Given the description of an element on the screen output the (x, y) to click on. 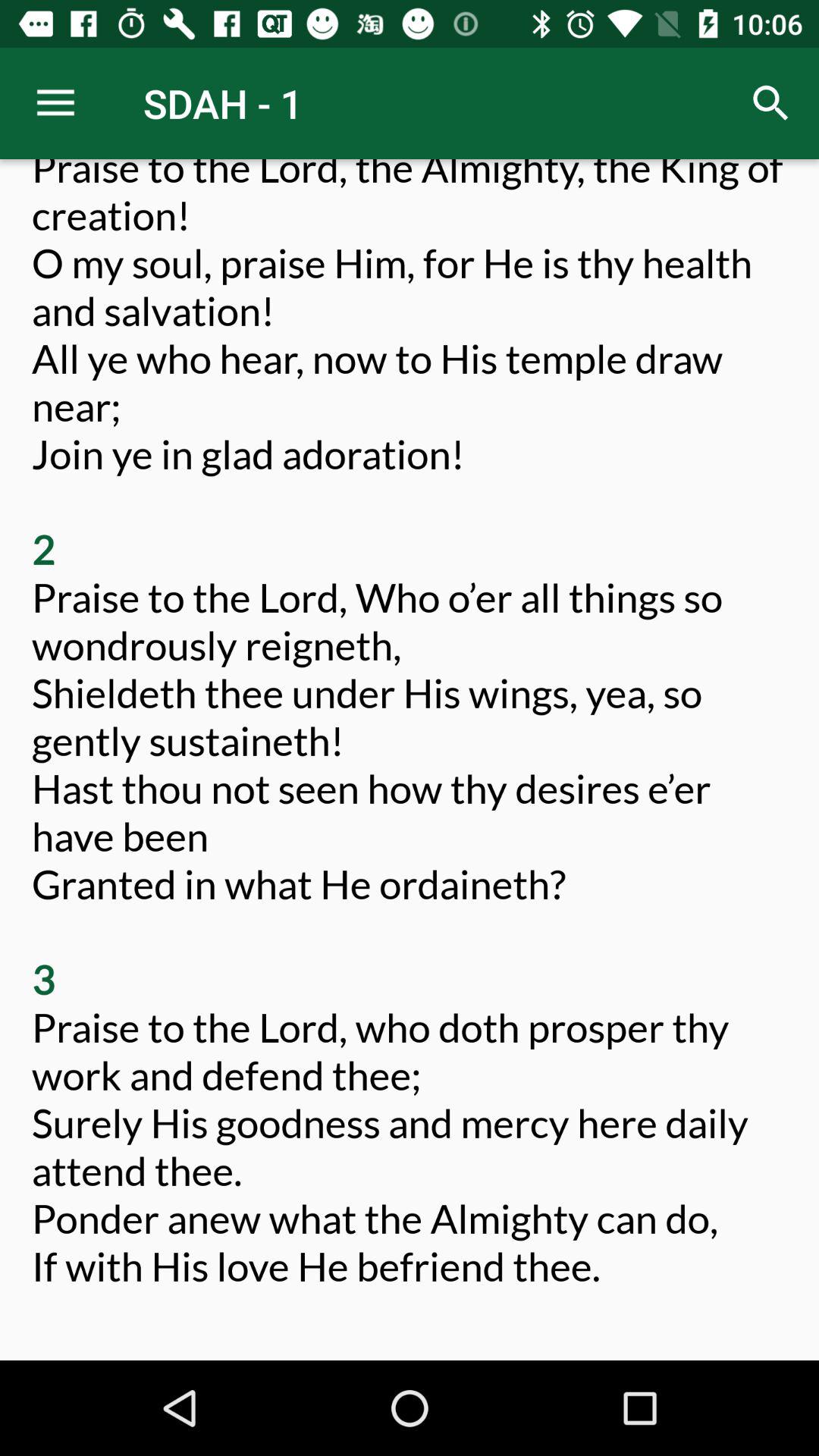
launch the 001 praise to (409, 747)
